Given the description of an element on the screen output the (x, y) to click on. 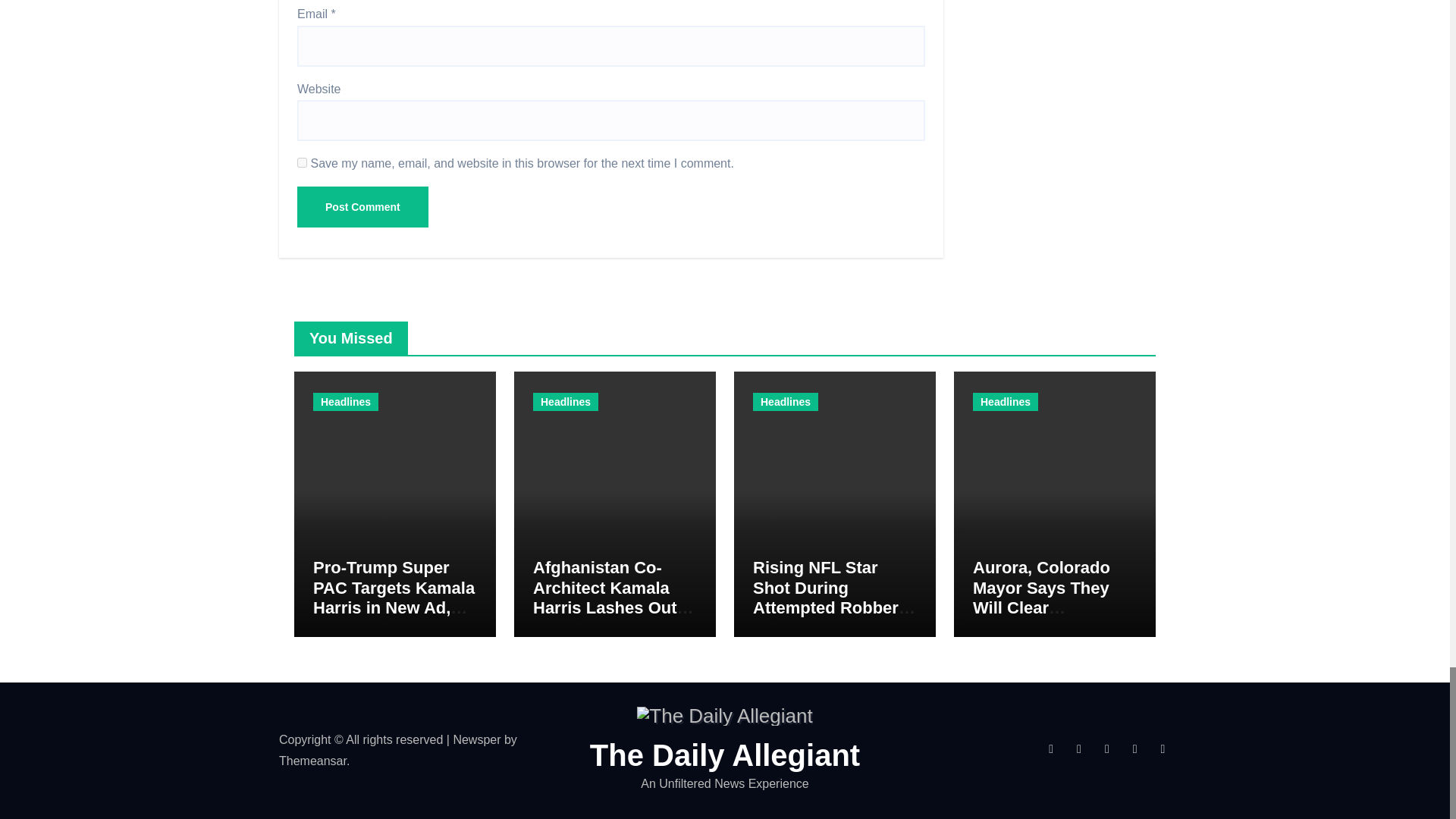
Post Comment (362, 206)
yes (302, 162)
